Given the description of an element on the screen output the (x, y) to click on. 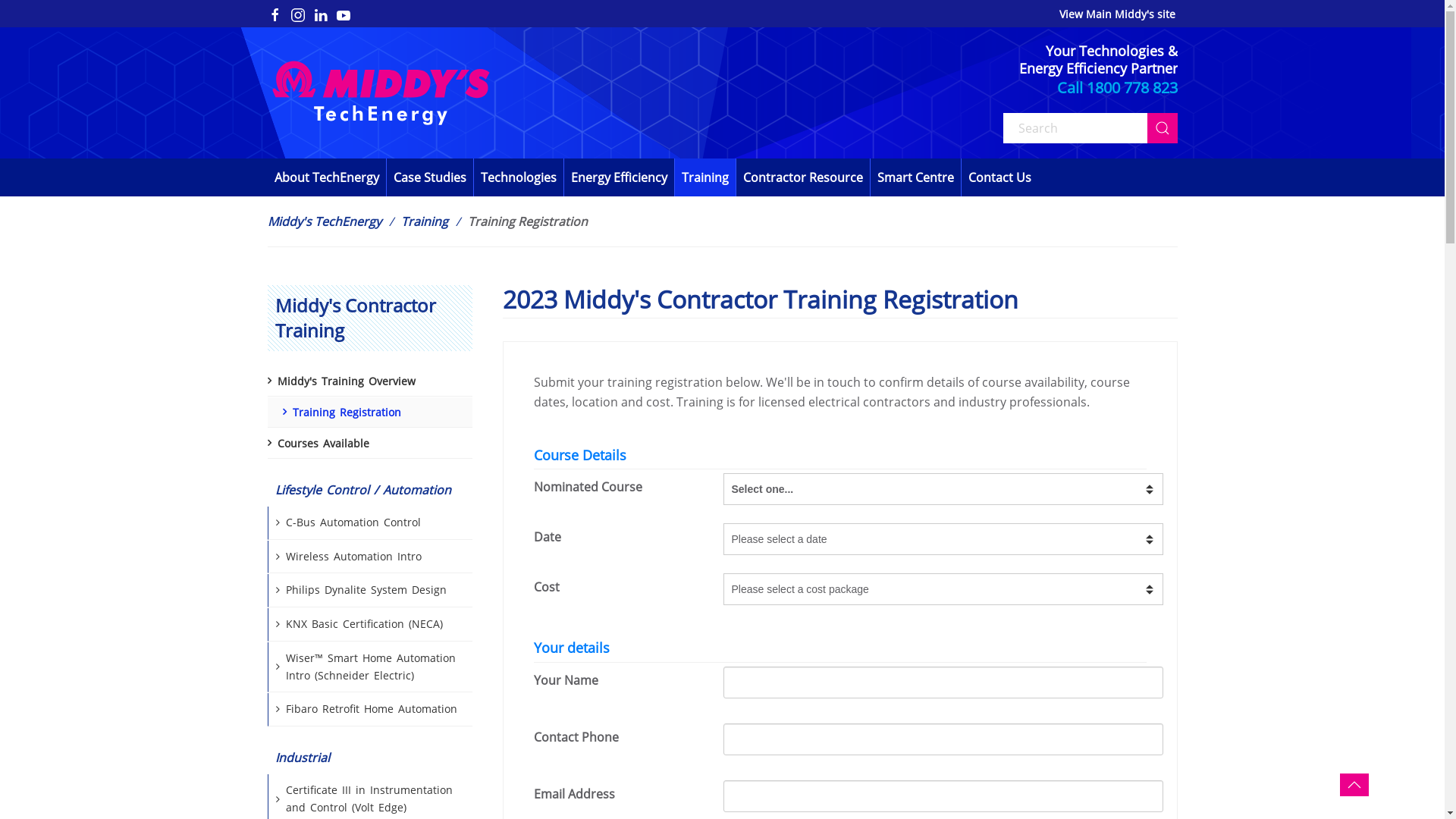
View Main Middy's site Element type: text (1117, 14)
Middy's Training Overview Element type: text (368, 381)
Contractor Resource Element type: text (802, 177)
Call 1800 778 823 Element type: text (1117, 87)
Training Element type: text (423, 221)
Courses Available Element type: text (368, 443)
C-Bus Automation Control Element type: text (368, 522)
Fibaro Retrofit Home Automation Element type: text (368, 709)
Case Studies Element type: text (429, 177)
KNX Basic Certification (NECA) Element type: text (368, 624)
Middy'S TechEnergy Element type: text (323, 221)
About TechEnergy Element type: text (325, 177)
Energy Efficiency Element type: text (619, 177)
Training Registration Element type: text (368, 412)
Technologies Element type: text (518, 177)
Wireless Automation Intro Element type: text (368, 557)
Philips Dynalite System Design Element type: text (368, 590)
Contact Us Element type: text (999, 177)
Training Element type: text (705, 177)
Smart Centre Element type: text (915, 177)
